Given the description of an element on the screen output the (x, y) to click on. 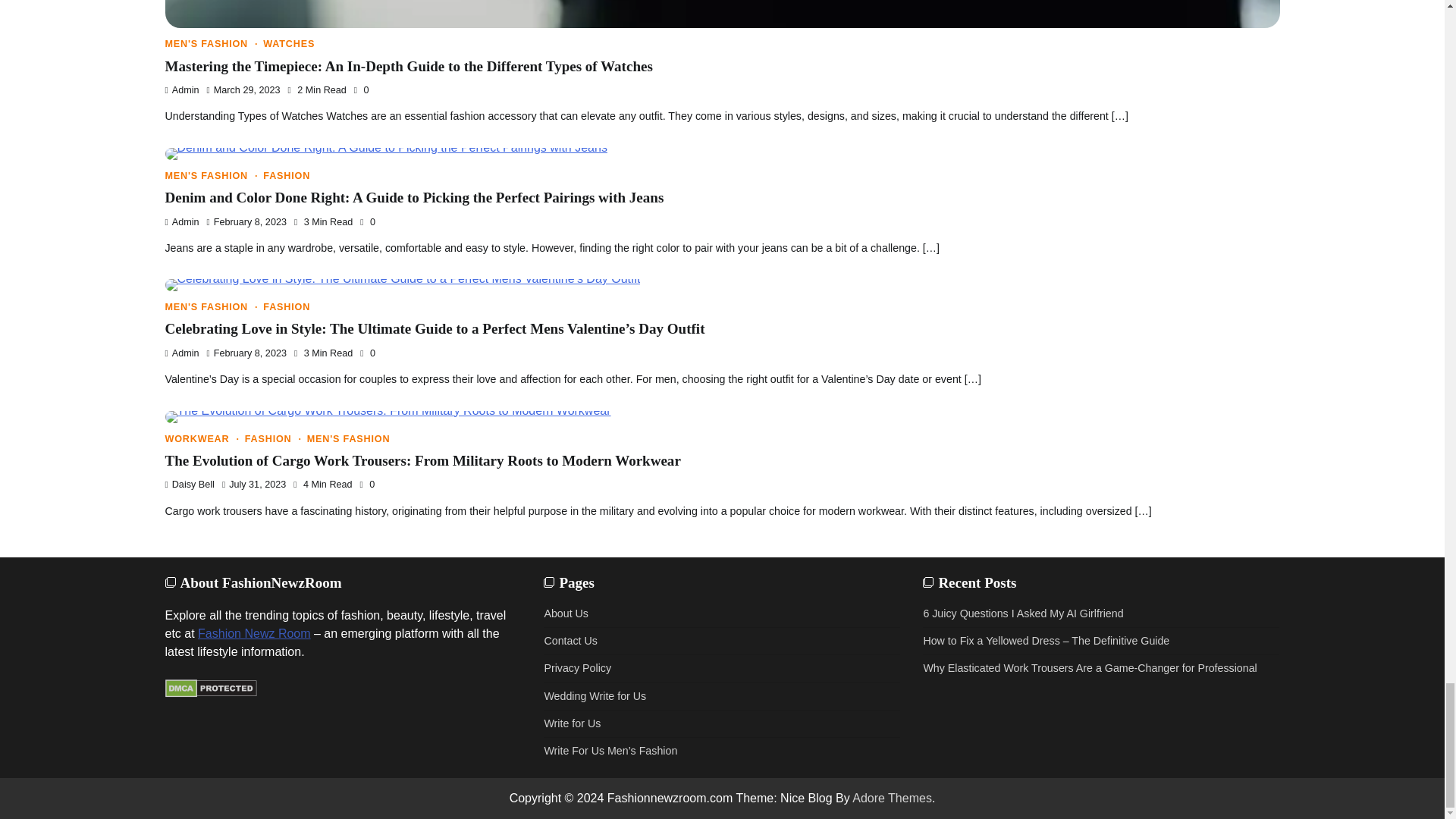
DMCA.com Protection Status (211, 693)
